Given the description of an element on the screen output the (x, y) to click on. 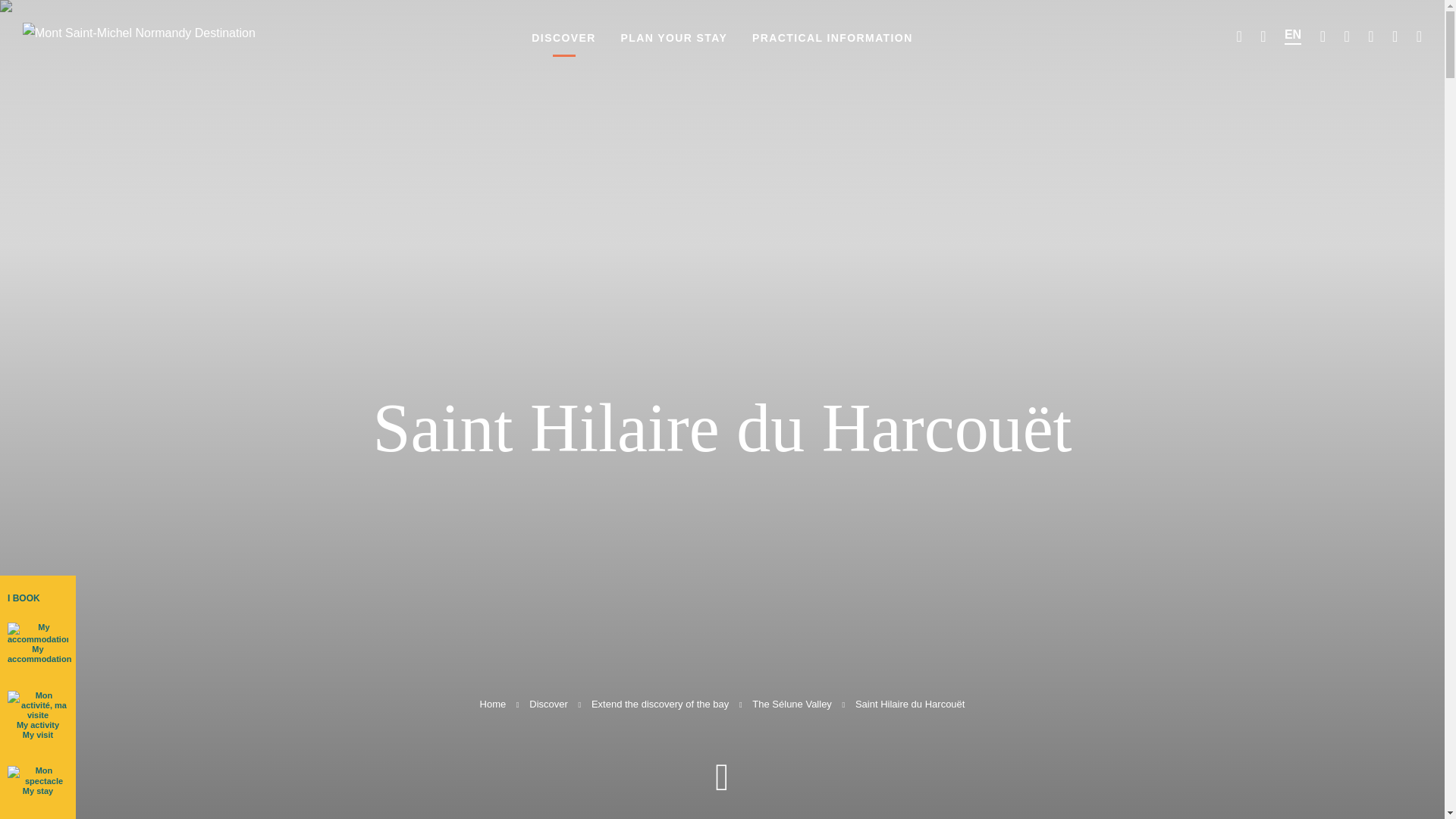
DISCOVER (563, 45)
PLAN YOUR STAY (673, 45)
PRACTICAL INFORMATION (832, 45)
Mont Saint-Michel Normandy Destination (139, 74)
